Given the description of an element on the screen output the (x, y) to click on. 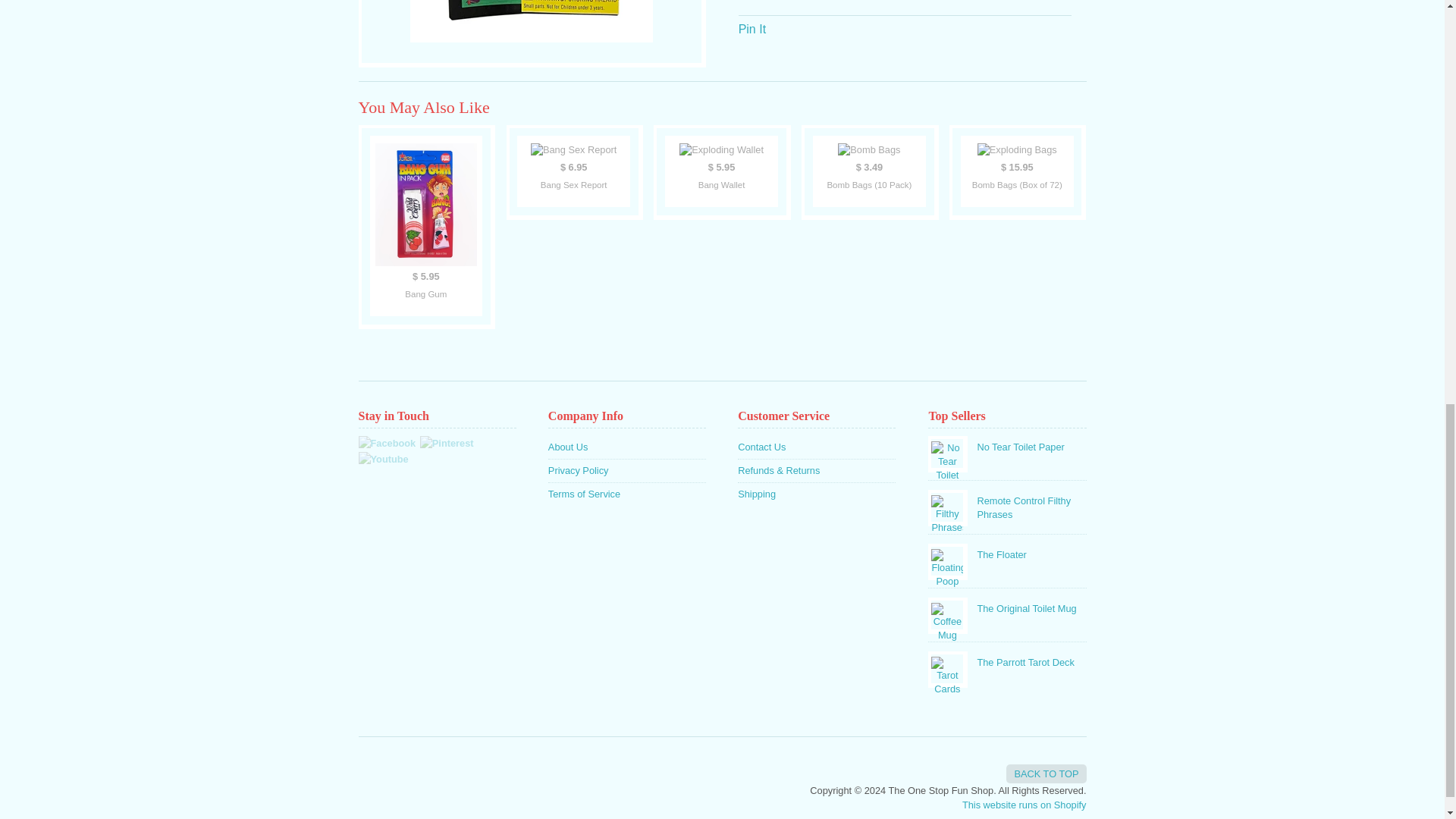
Youtube (382, 459)
Pin It (751, 29)
No Tear Toilet Paper (1007, 444)
The Floater (1007, 552)
Bang Sex Report (573, 171)
The Original Toilet Mug (1007, 606)
Bang Wallet (721, 171)
Facebook (386, 442)
The Parrott Tarot Deck (1007, 660)
Pinterest (447, 442)
